Given the description of an element on the screen output the (x, y) to click on. 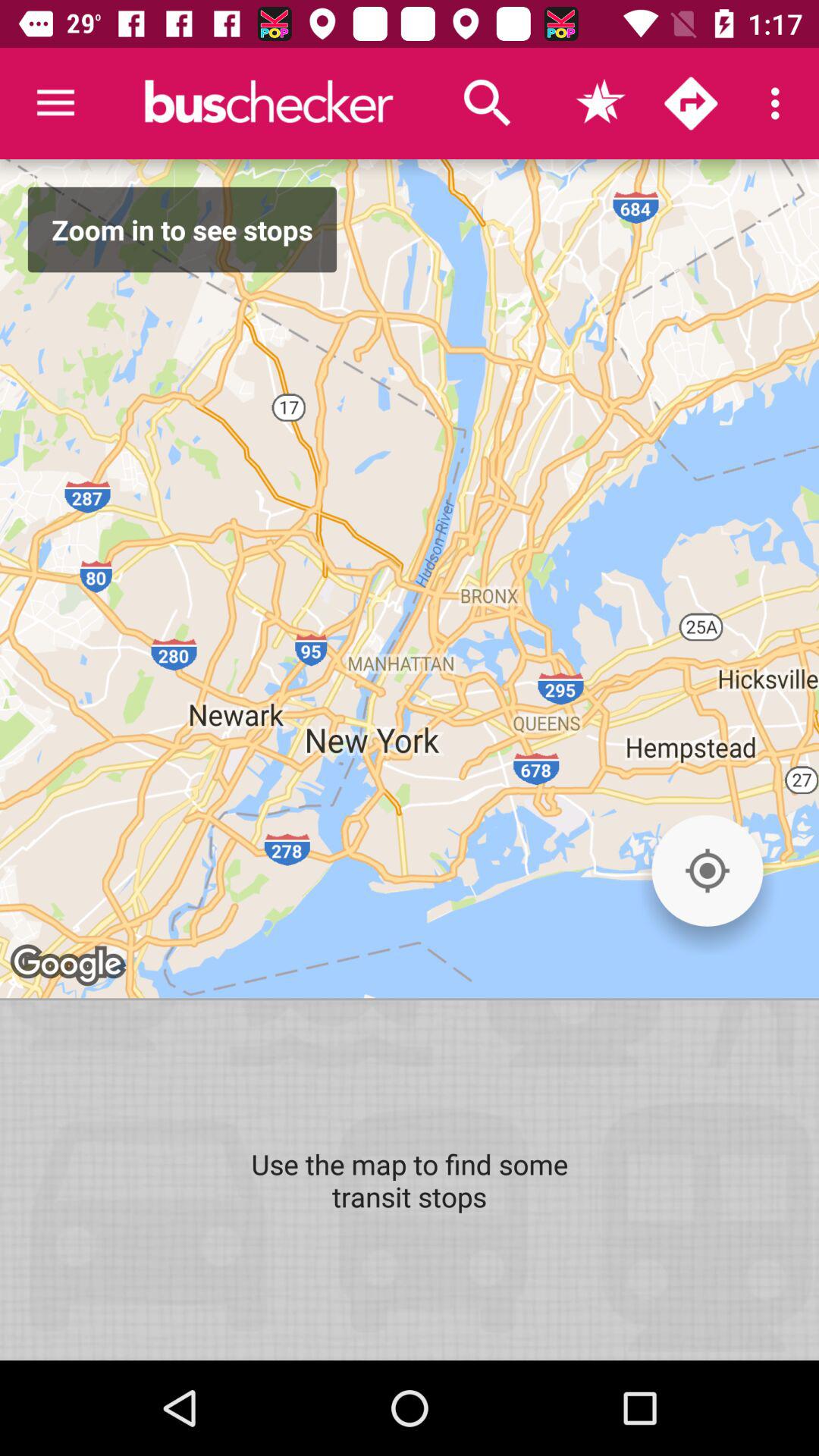
choose the item at the center (409, 578)
